Given the description of an element on the screen output the (x, y) to click on. 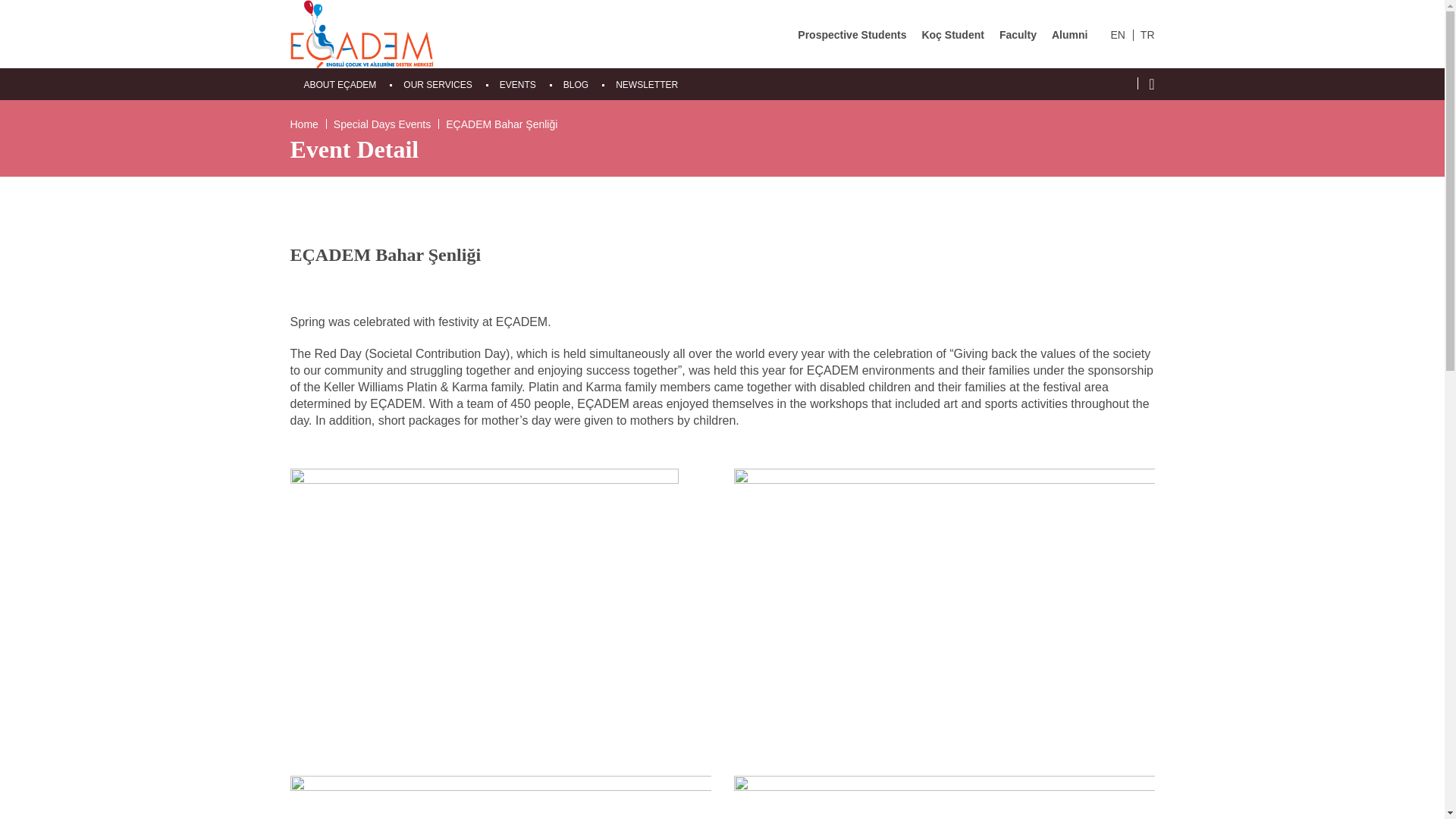
OUR SERVICES (437, 84)
BLOG (575, 84)
NEWSLETTER (646, 84)
Prospective Students (851, 34)
TR (1147, 34)
KU (361, 33)
Faculty (1017, 34)
EVENTS (517, 84)
Alumni (1069, 34)
EN (1116, 34)
